Given the description of an element on the screen output the (x, y) to click on. 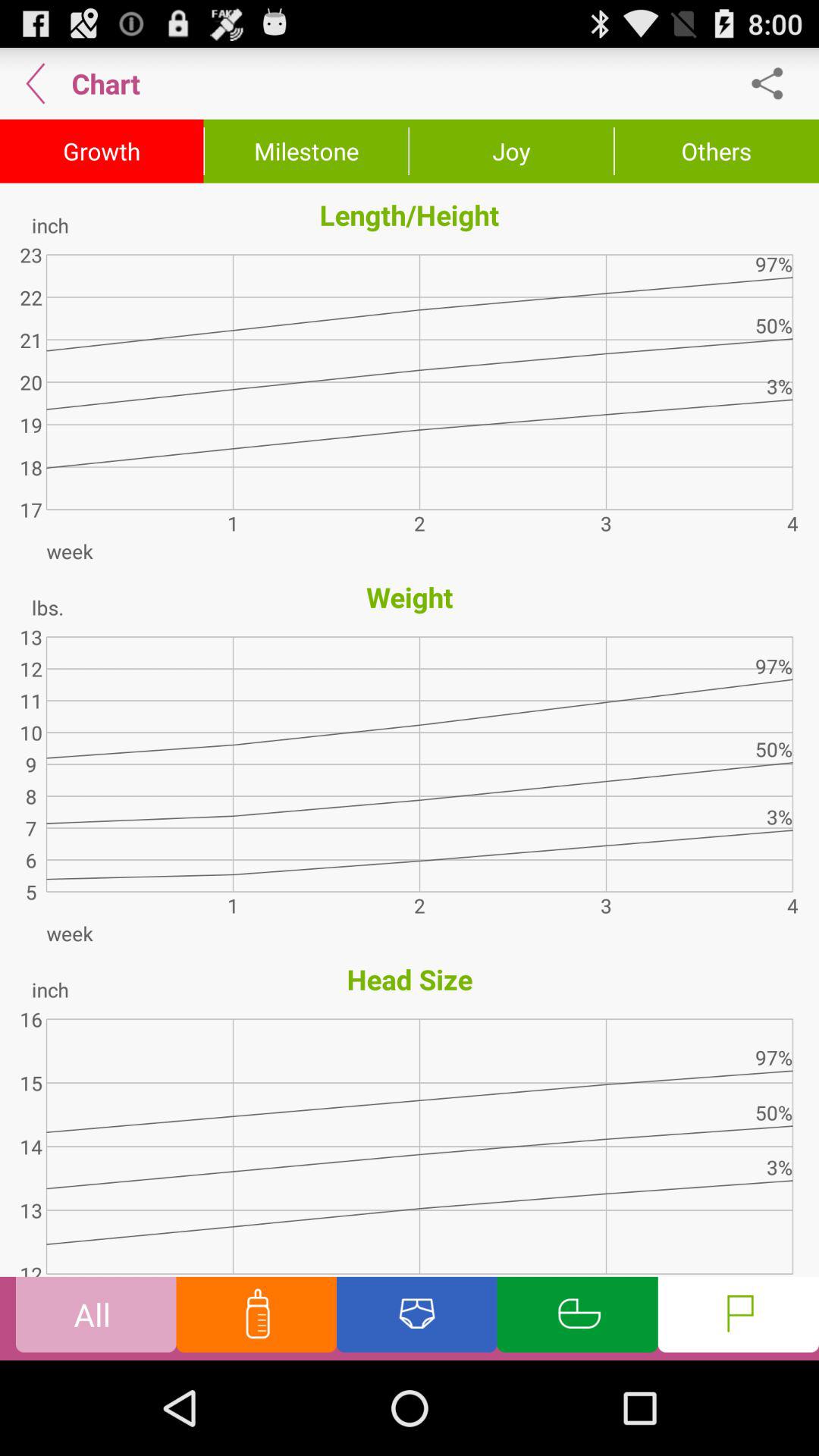
open feeding chart (256, 1318)
